Given the description of an element on the screen output the (x, y) to click on. 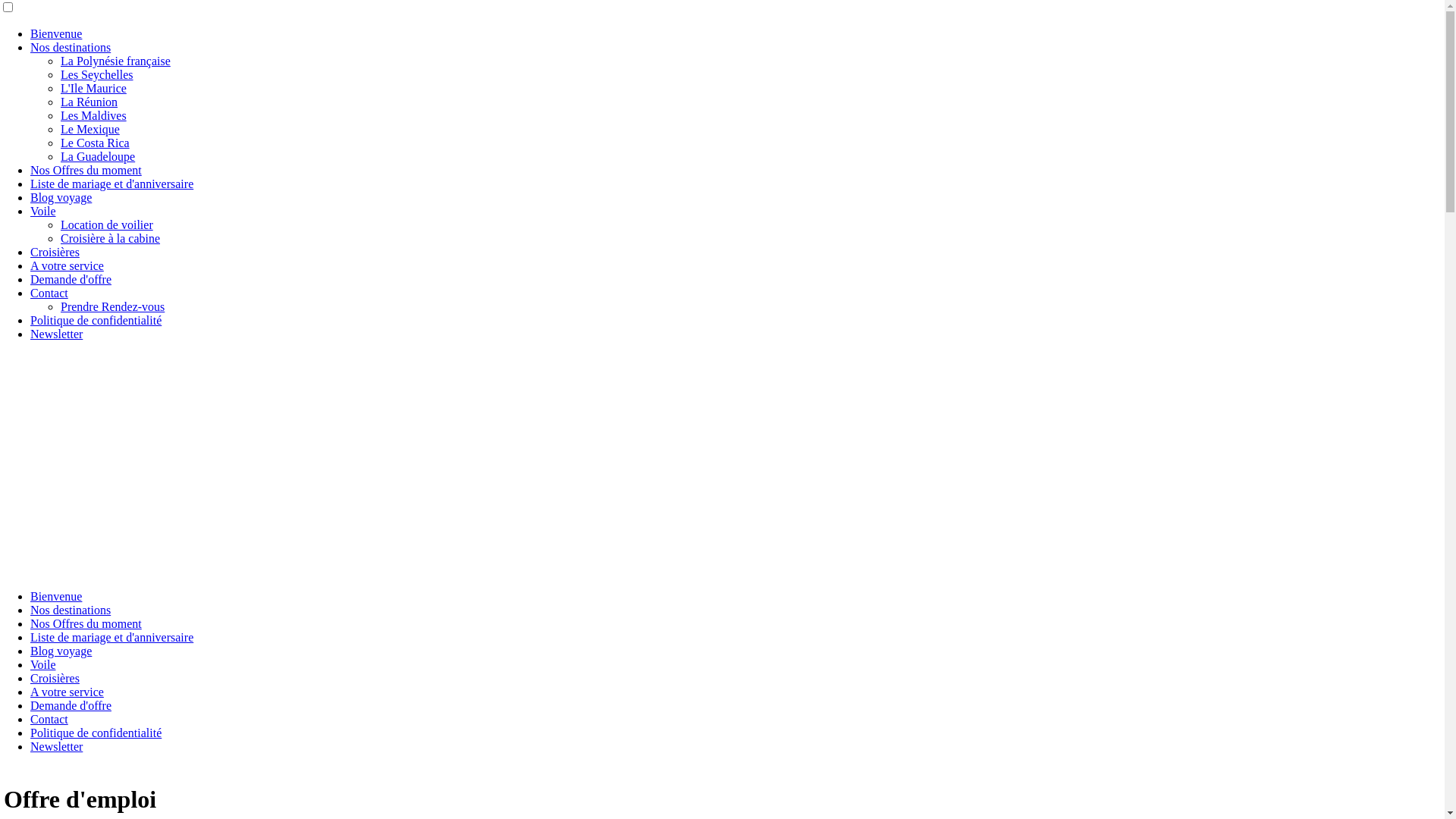
A votre service Element type: text (66, 691)
Nos destinations Element type: text (70, 609)
Les Seychelles Element type: text (96, 74)
Voile Element type: text (42, 210)
Demande d'offre Element type: text (70, 279)
Contact Element type: text (49, 718)
Newsletter Element type: text (56, 333)
Le Costa Rica Element type: text (94, 142)
L'Ile Maurice Element type: text (93, 87)
Liste de mariage et d'anniversaire Element type: text (111, 183)
Voile Element type: text (42, 664)
Blog voyage Element type: text (60, 650)
Nos Offres du moment Element type: text (85, 169)
Demande d'offre Element type: text (70, 705)
Nos destinations Element type: text (70, 46)
Liste de mariage et d'anniversaire Element type: text (111, 636)
Newsletter Element type: text (56, 746)
A votre service Element type: text (66, 265)
Les Maldives Element type: text (93, 115)
La Guadeloupe Element type: text (97, 156)
Le Mexique Element type: text (89, 128)
Nos Offres du moment Element type: text (85, 623)
Location de voilier Element type: text (106, 224)
Bienvenue Element type: text (55, 595)
Contact Element type: text (49, 292)
Prendre Rendez-vous Element type: text (112, 306)
Bienvenue Element type: text (55, 33)
Blog voyage Element type: text (60, 197)
